Given the description of an element on the screen output the (x, y) to click on. 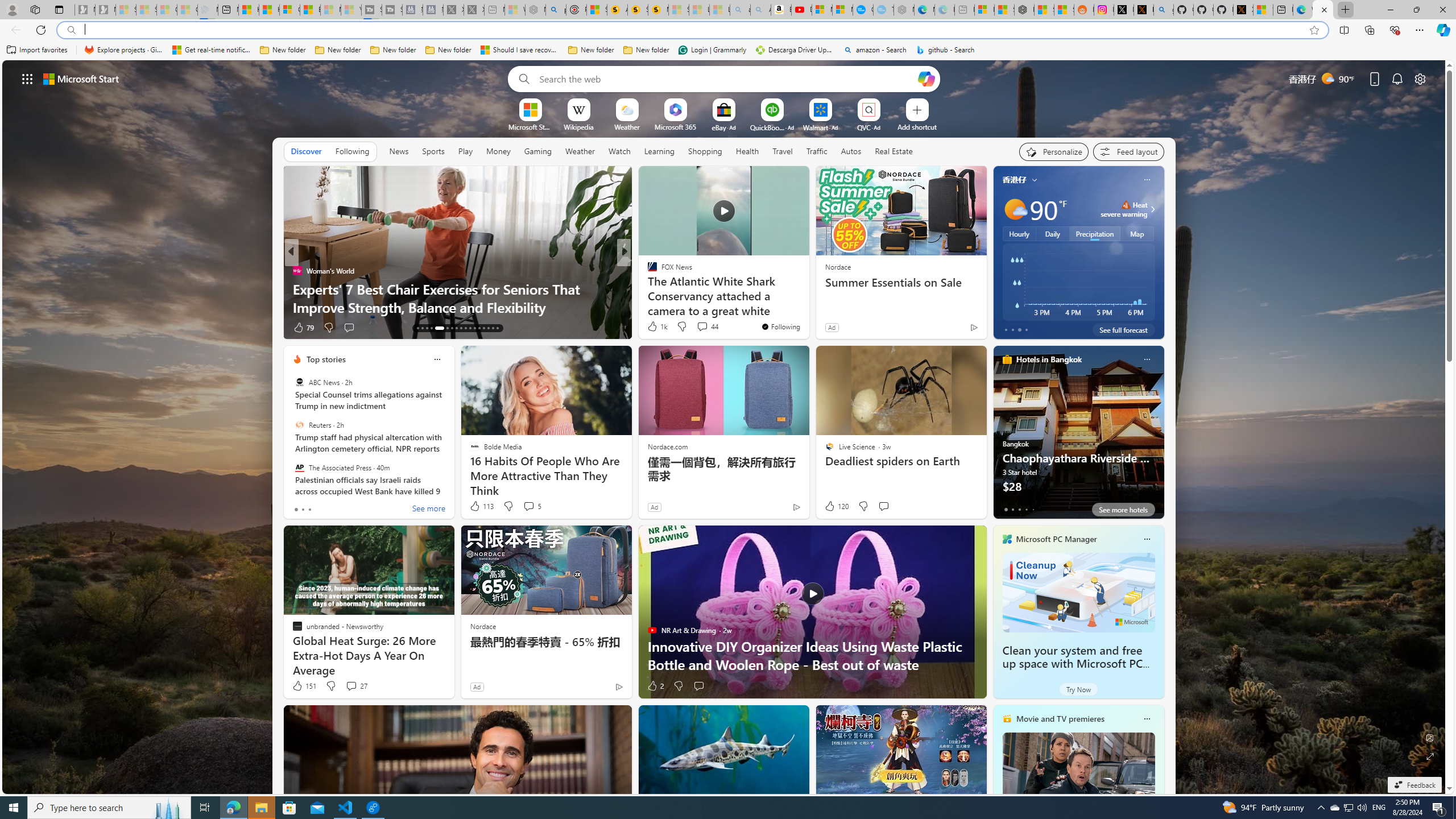
Travel (782, 151)
120 Like (835, 505)
View comments 2 Comment (698, 327)
Log in to X / X (1123, 9)
Page settings (1420, 78)
Edit Background (1430, 737)
Notifications (1397, 78)
Map (1137, 233)
Ad (476, 686)
App bar (728, 29)
Hotels in Bangkok (1048, 359)
113 Like (480, 505)
